Given the description of an element on the screen output the (x, y) to click on. 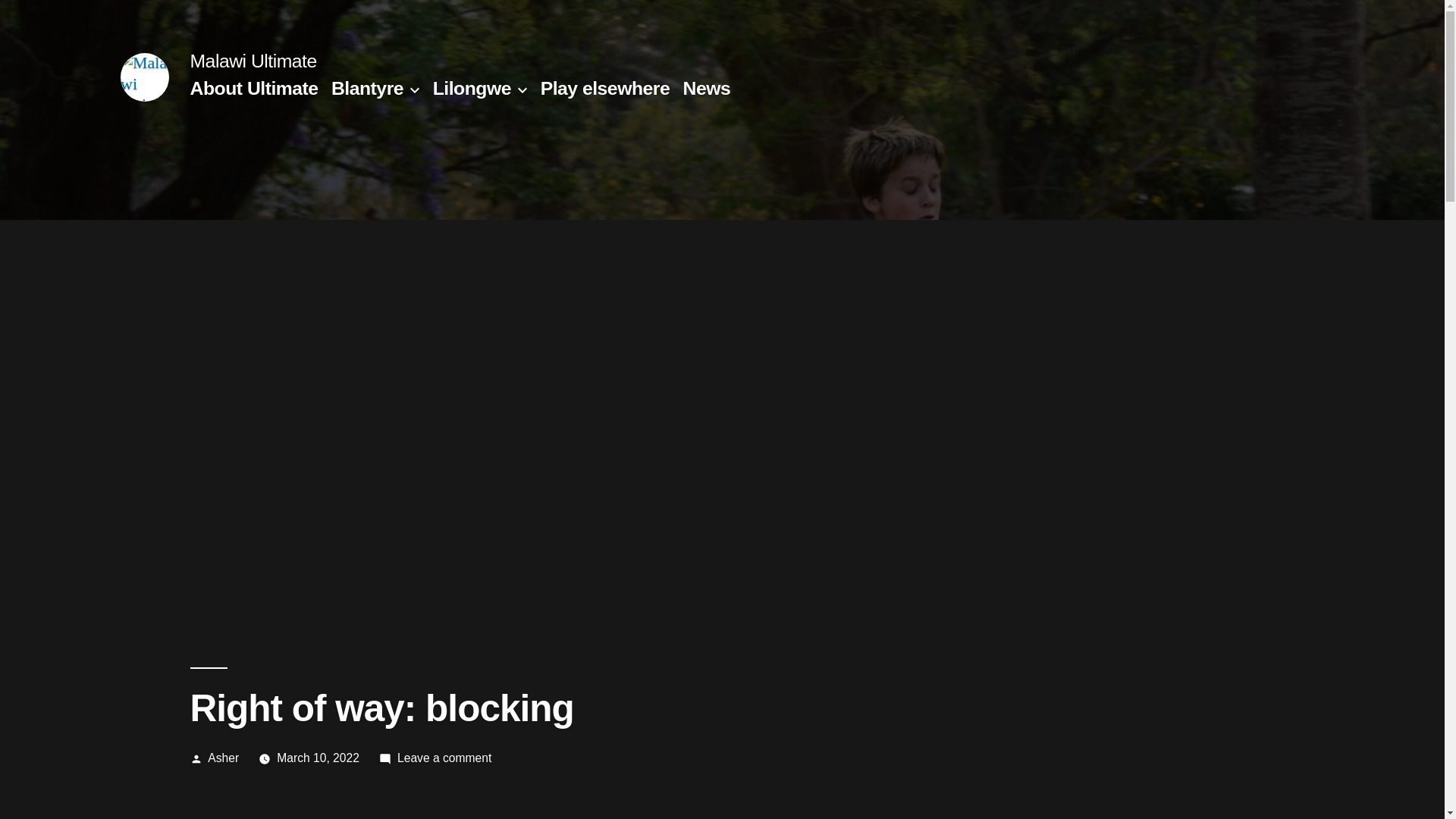
About Ultimate (253, 87)
Malawi Ultimate (252, 60)
Blantyre (367, 87)
Play elsewhere (604, 87)
Lilongwe (471, 87)
Asher (223, 757)
March 10, 2022 (317, 757)
News (706, 87)
